Given the description of an element on the screen output the (x, y) to click on. 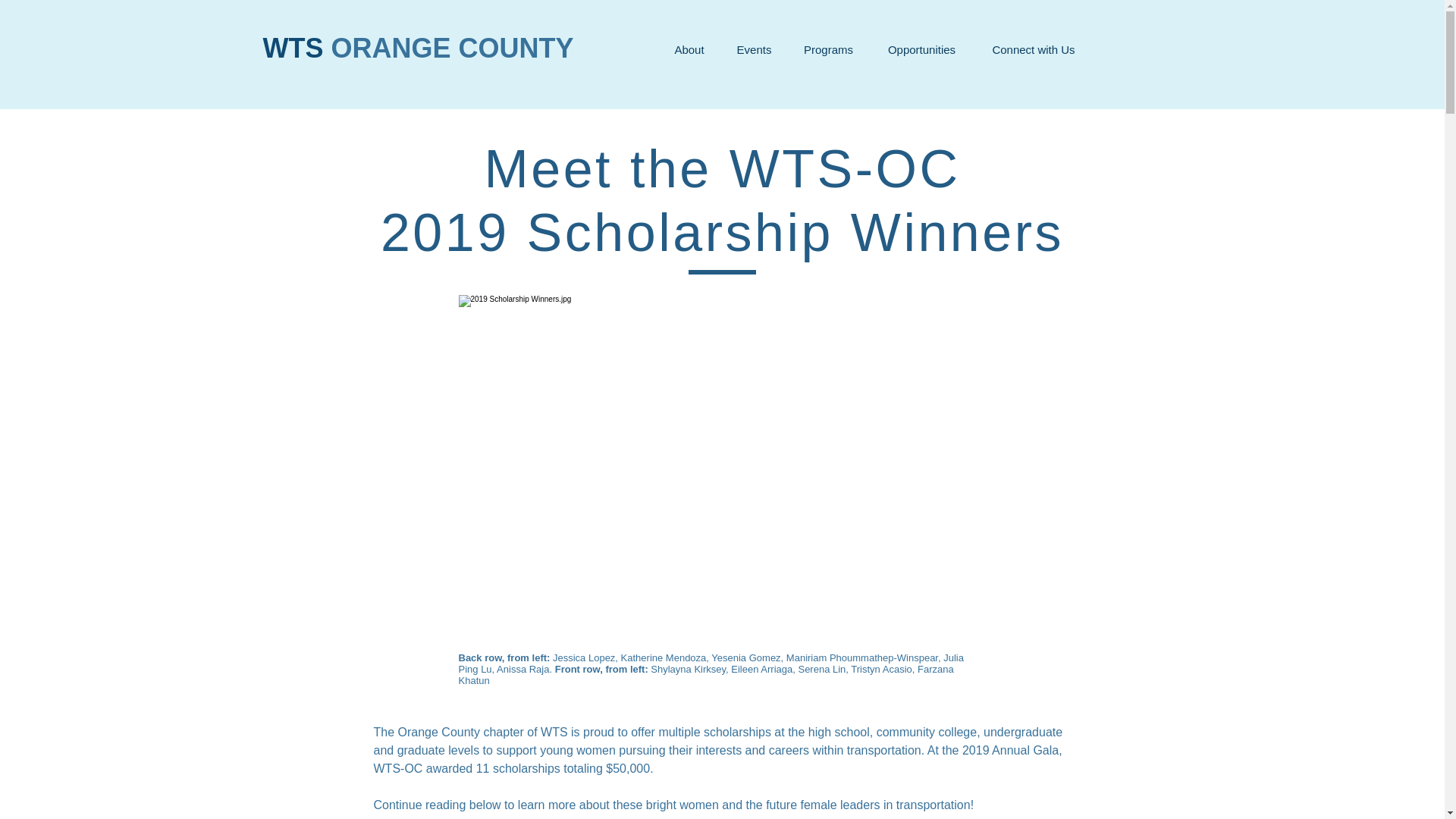
About (689, 50)
Programs (828, 50)
Opportunities (921, 50)
WTS  (296, 47)
Connect with Us (1033, 50)
ORANGE COUNTY (451, 47)
Events (753, 50)
